Given the description of an element on the screen output the (x, y) to click on. 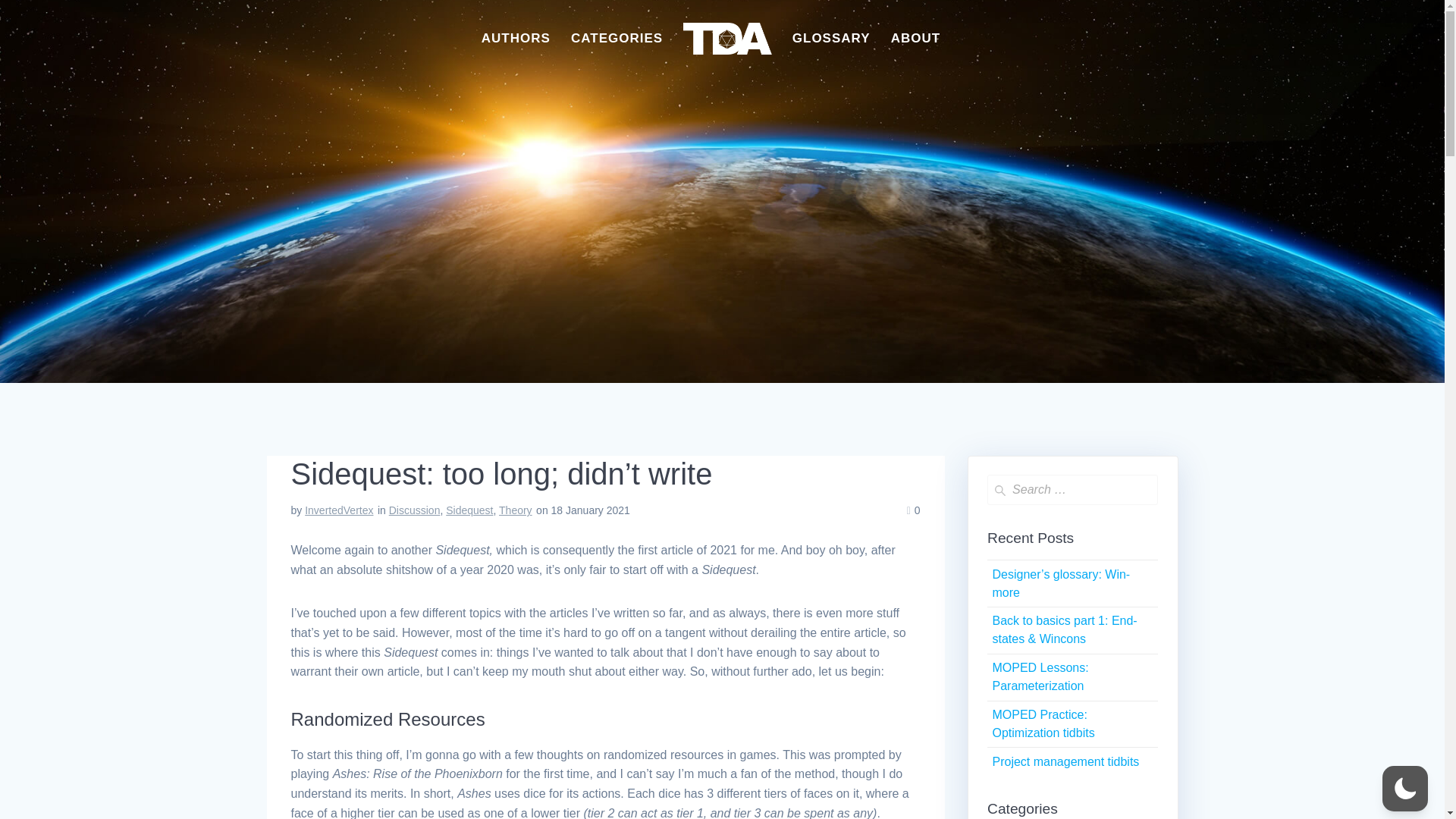
MOPED Practice: Optimization tidbits (1042, 723)
Discussion (414, 510)
Sidequest (469, 510)
Posts by InvertedVertex (338, 510)
MOPED Lessons: Parameterization (1039, 676)
AUTHORS (515, 39)
Project management tidbits (1064, 761)
CATEGORIES (616, 39)
InvertedVertex (338, 510)
Theory (515, 510)
GLOSSARY (831, 39)
ABOUT (915, 39)
